Given the description of an element on the screen output the (x, y) to click on. 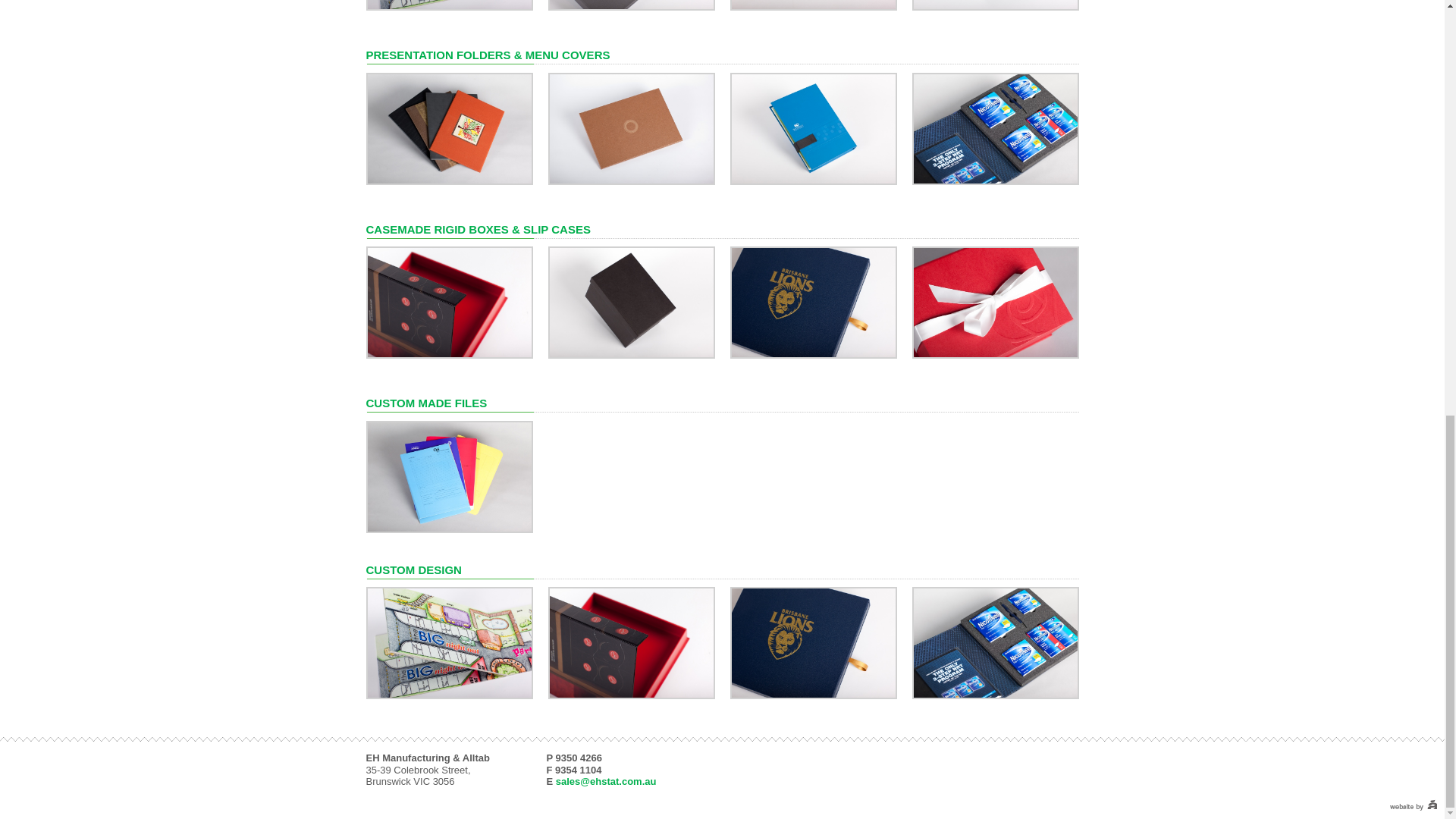
Box and Lid (630, 301)
Ring Bound Box with Magnetic Closure (630, 641)
Game Board (448, 641)
CUSTOM DESIGN (413, 569)
CUSTOM MADE FILES (425, 402)
Landscape Menu Cover (630, 127)
Custom Product Presentation Folder and Kit (994, 127)
Magnetic Closure Clamshell Box (994, 301)
Ring Bound Box with Magnetic Closure (448, 301)
Custom Presentation Cover with Pocket (812, 127)
Slip Case with Tray for Booklet to be housed (812, 301)
File Folders (448, 475)
Menu and Presentation Covers (448, 127)
